Given the description of an element on the screen output the (x, y) to click on. 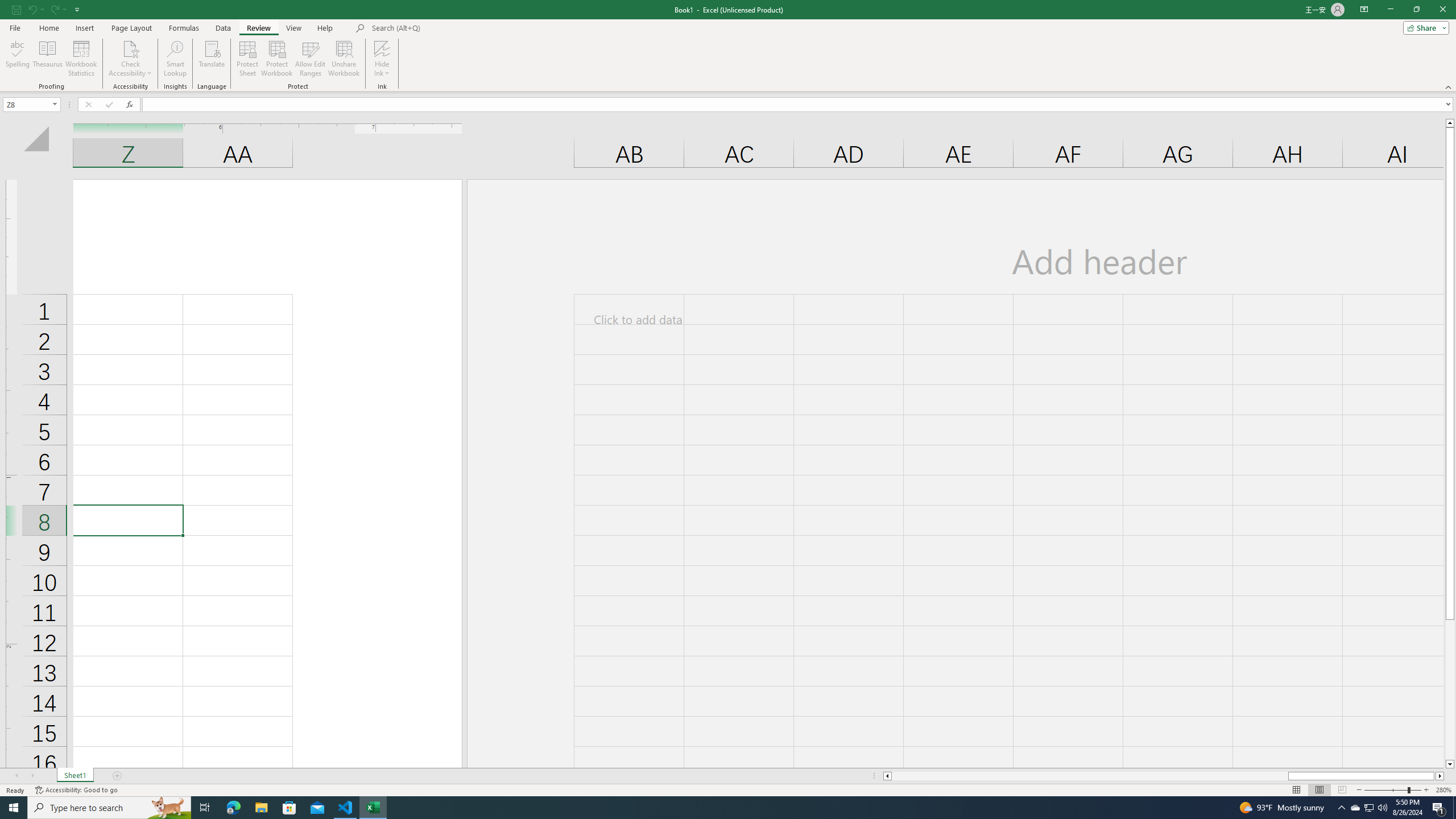
Spelling... (17, 58)
Protect Workbook... (277, 58)
